Given the description of an element on the screen output the (x, y) to click on. 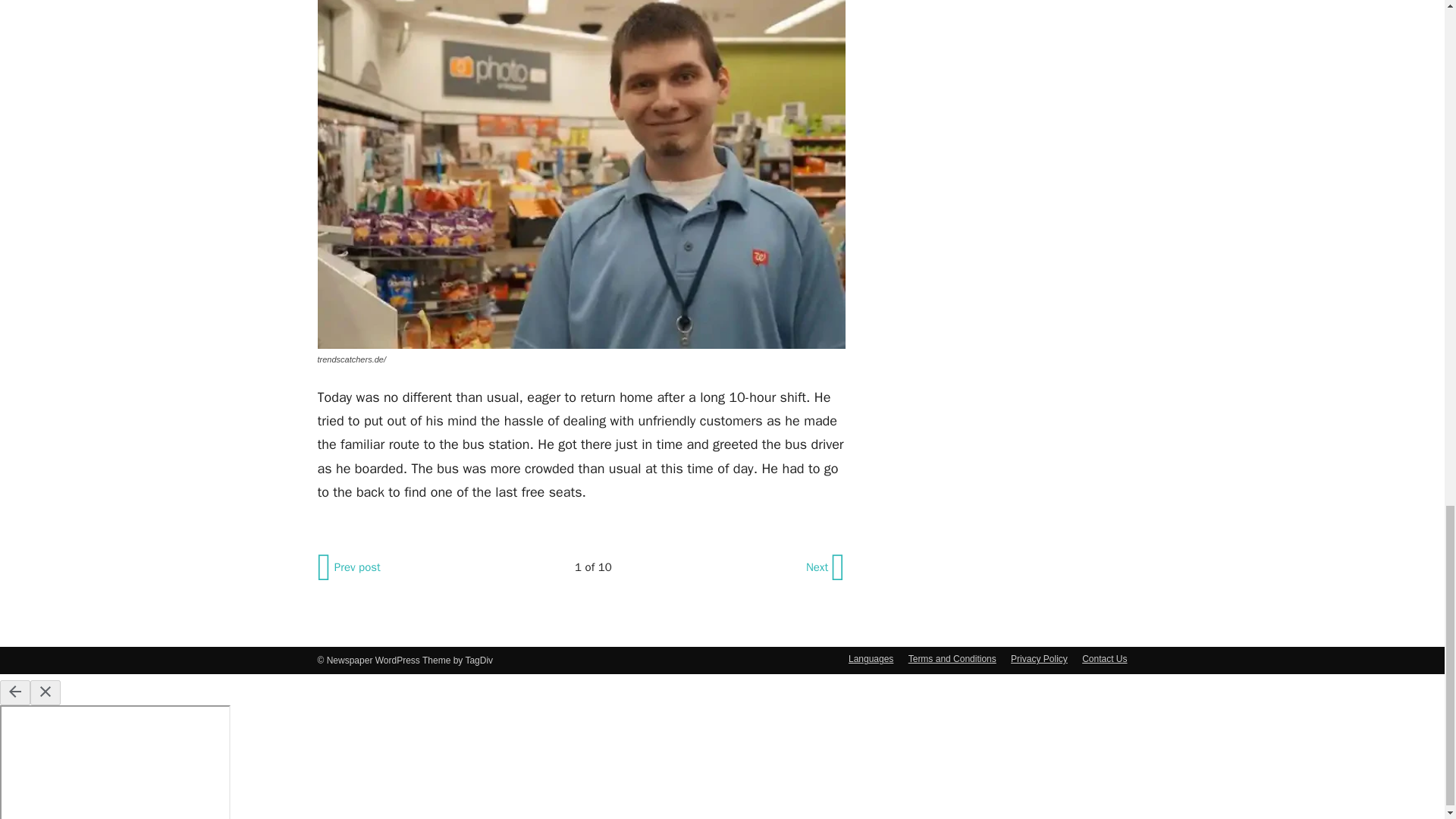
Next (824, 566)
Languages (870, 658)
Privacy Policy (1038, 658)
Terms and Conditions (951, 658)
Prev post (349, 566)
